Given the description of an element on the screen output the (x, y) to click on. 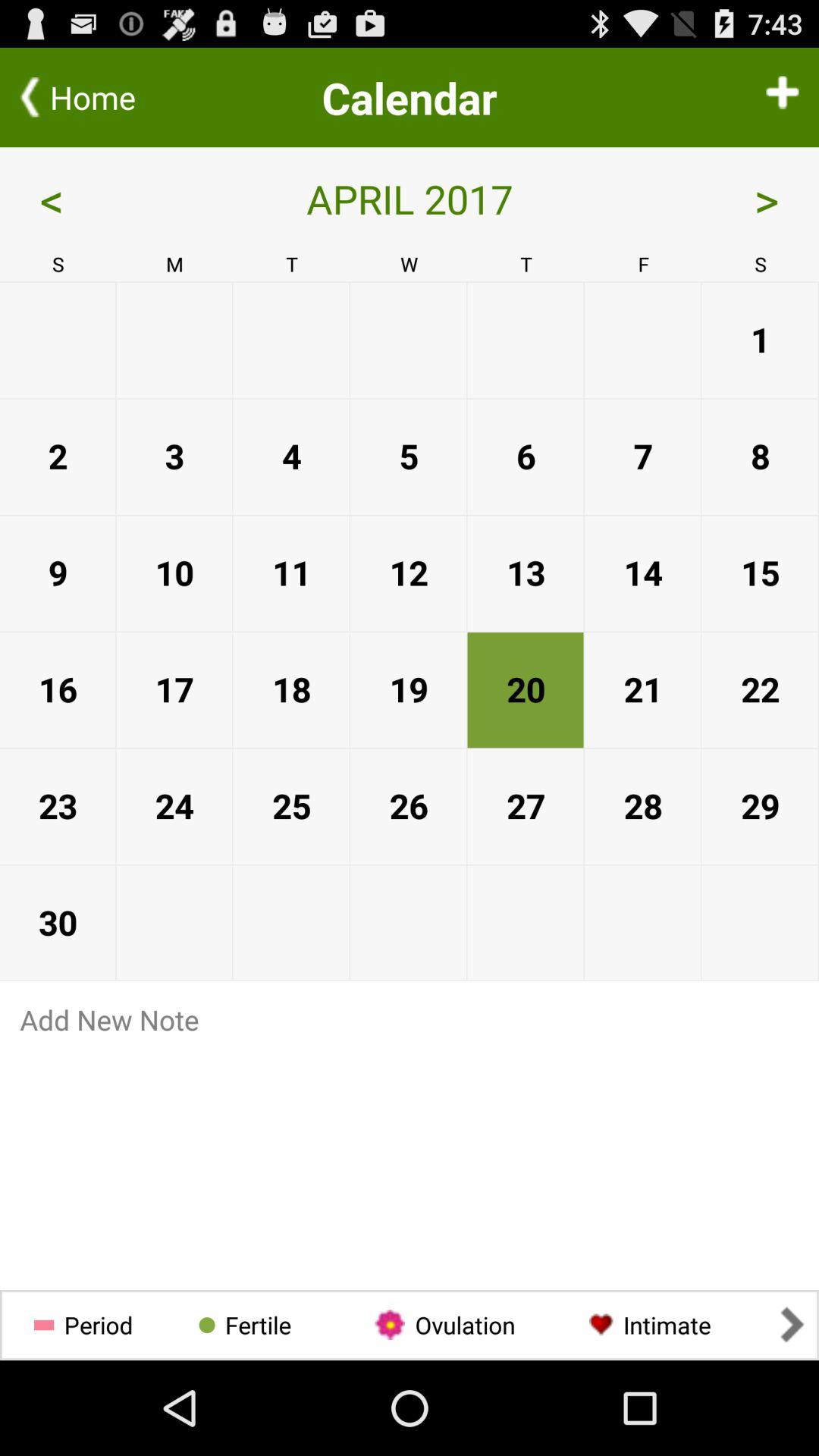
add event (782, 97)
